Given the description of an element on the screen output the (x, y) to click on. 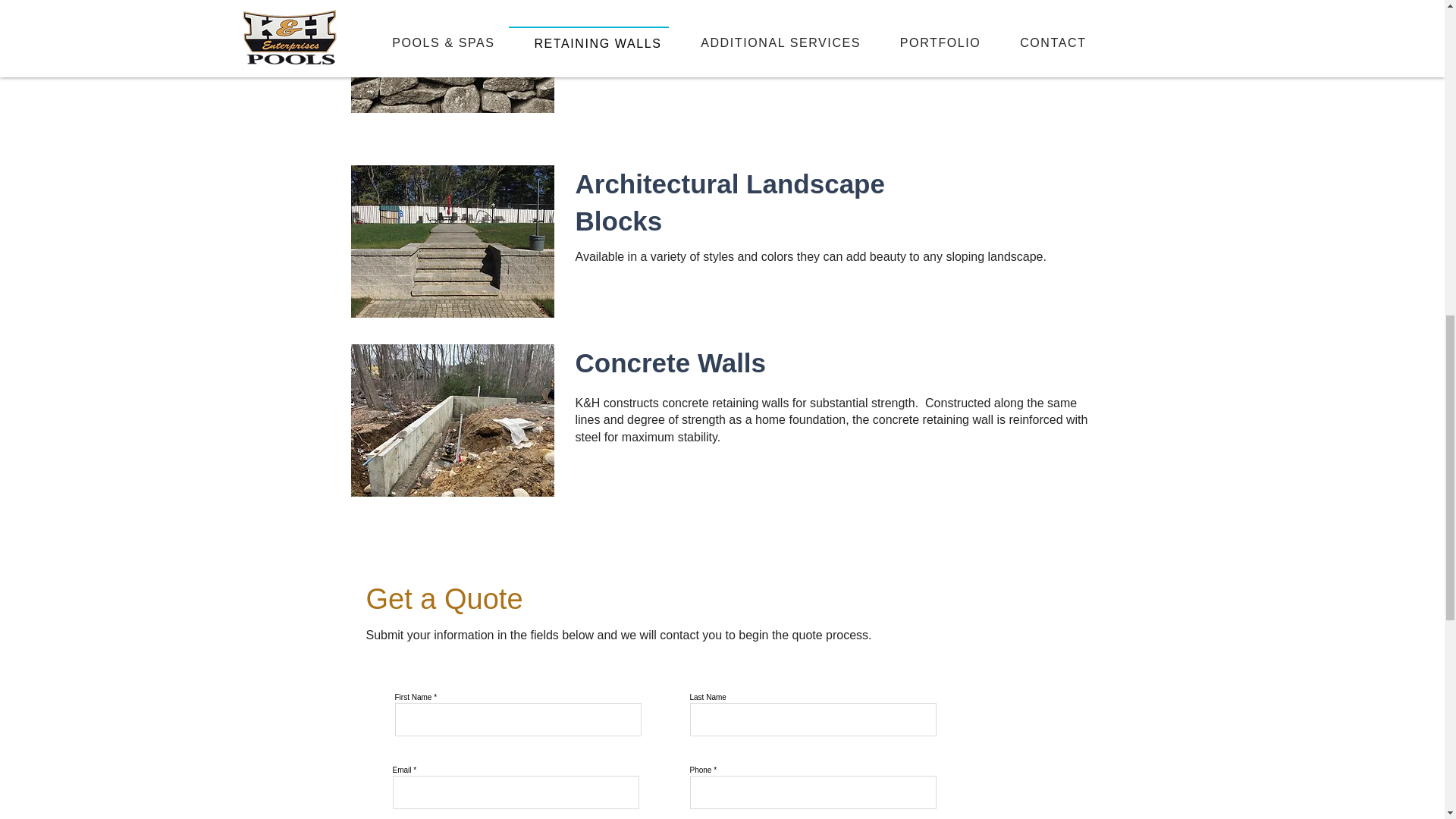
retaining-wall-kandhpools-2.jpg (451, 419)
retaining-wall-kandhpools-2.jpg (451, 56)
retaining-wall-kandhpools-2.jpg (451, 241)
